Given the description of an element on the screen output the (x, y) to click on. 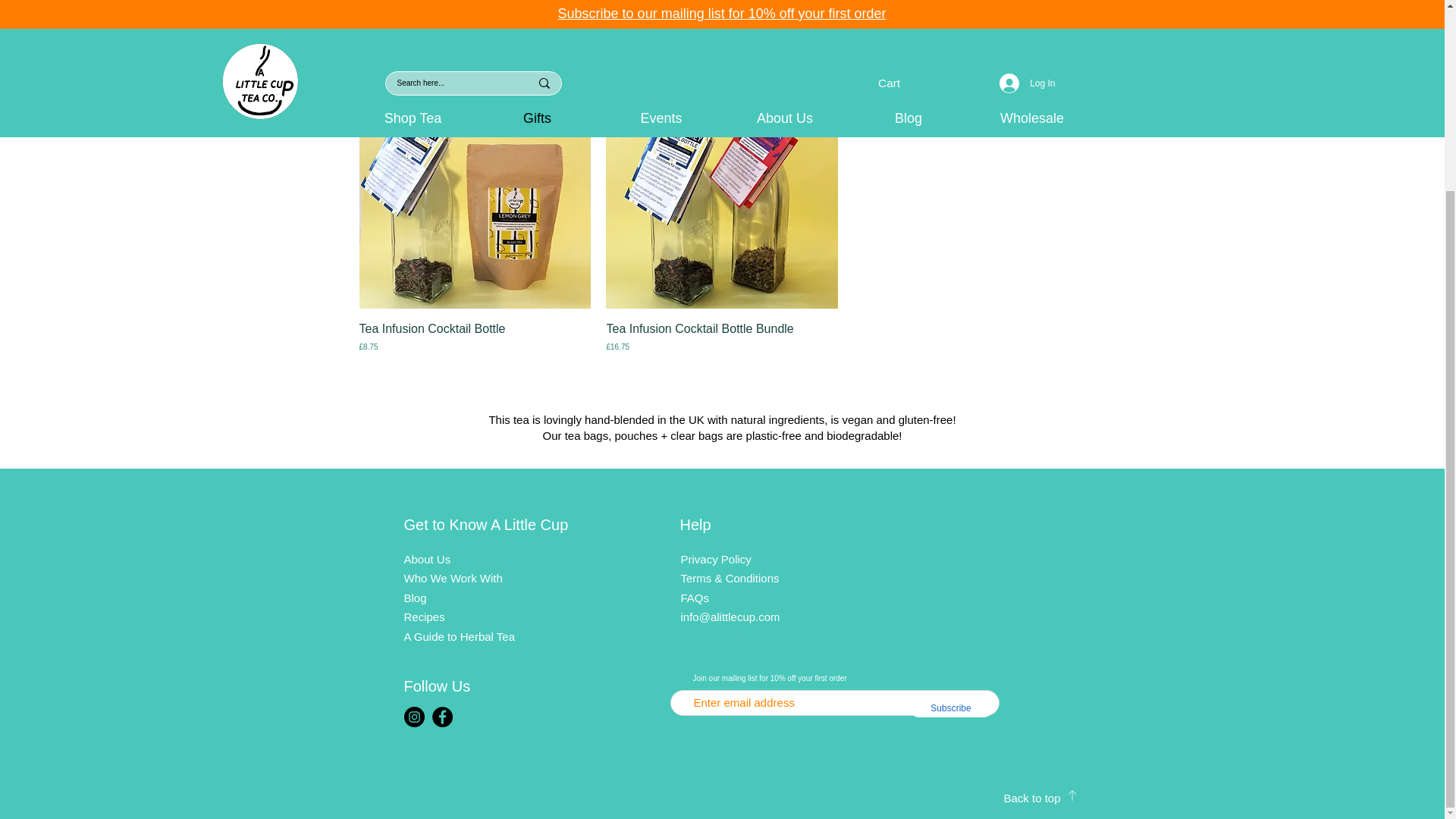
Who We Work With (452, 577)
COCKTAIL BOTTLE (721, 192)
Recipes (423, 616)
Blog (414, 597)
About Us (426, 558)
A Guide to Herbal Tea (458, 635)
